Given the description of an element on the screen output the (x, y) to click on. 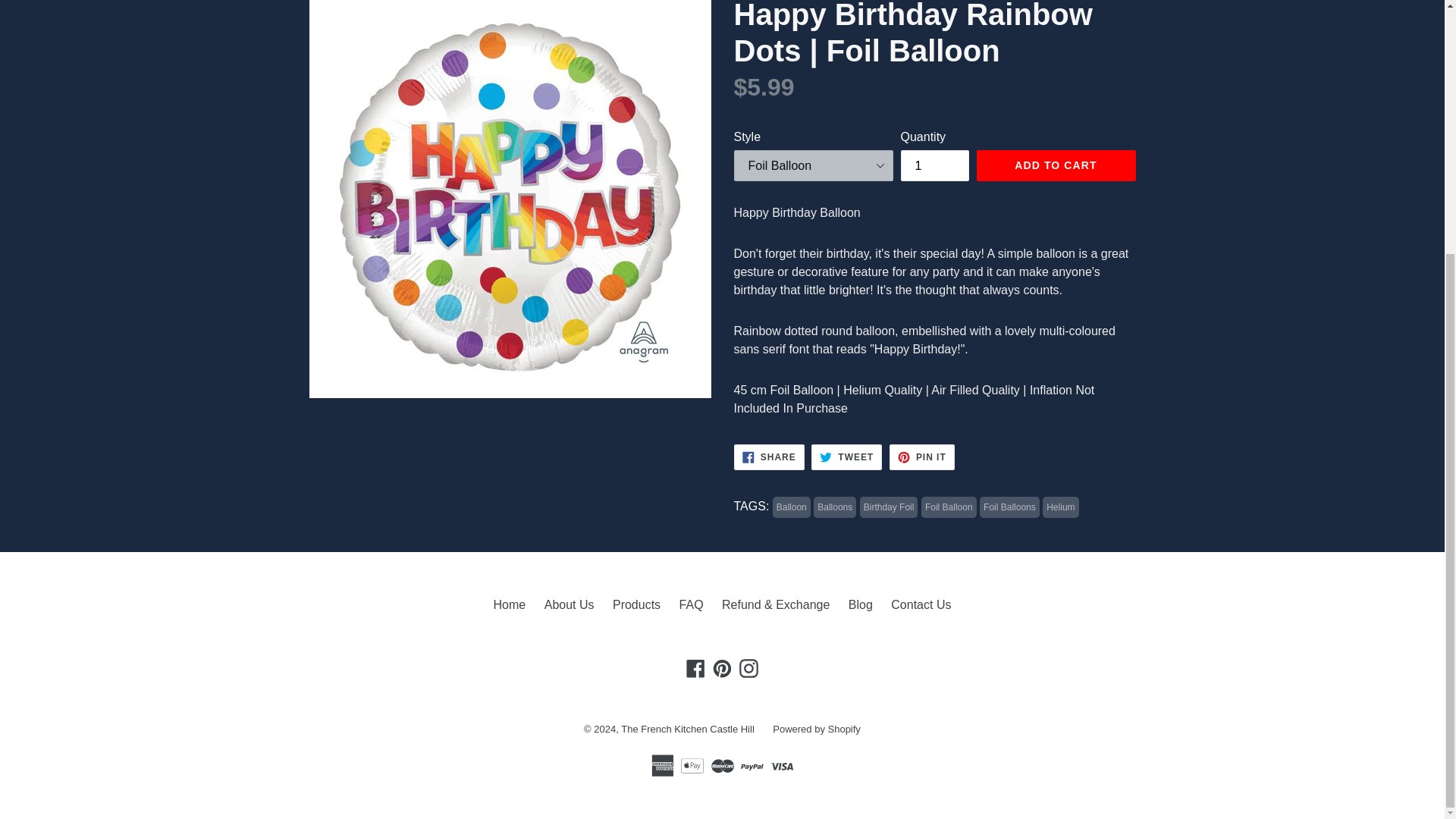
Share on Facebook (769, 457)
The French Kitchen Castle Hill on Pinterest (721, 668)
The French Kitchen Castle Hill on Facebook (695, 668)
Powered by Shopify (816, 728)
Pinterest (721, 668)
Blog (860, 604)
Facebook (695, 668)
The French Kitchen Castle Hill on Instagram (922, 457)
Instagram (748, 668)
